Given the description of an element on the screen output the (x, y) to click on. 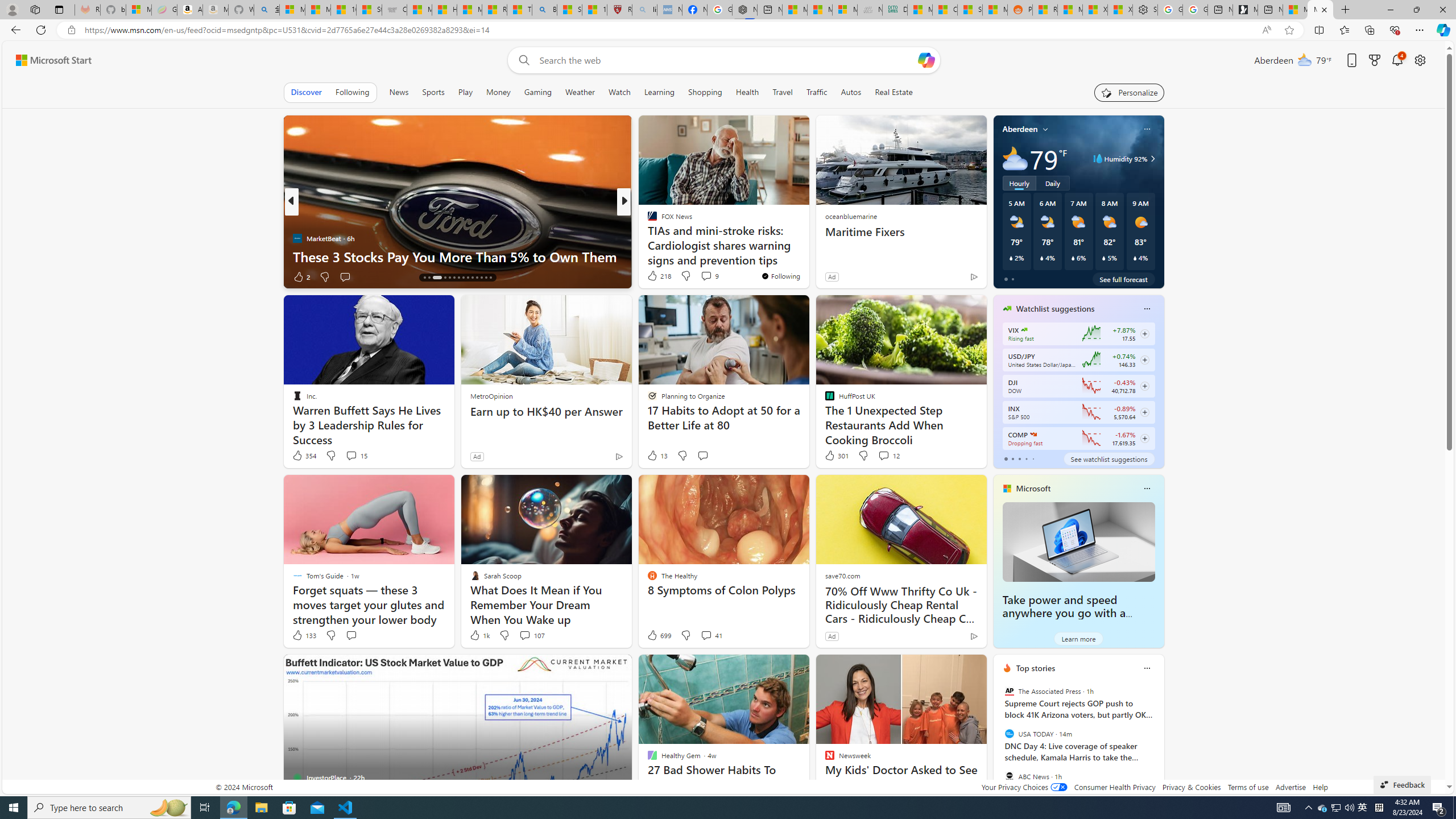
These 3 Stocks Pay You More Than 5% to Own Them (457, 256)
12 Popular Science Lies that Must be Corrected (593, 9)
Learn more (1078, 638)
The Associated Press (1008, 691)
AutomationID: tab-22 (462, 277)
View comments 34 Comment (703, 276)
